Given the description of an element on the screen output the (x, y) to click on. 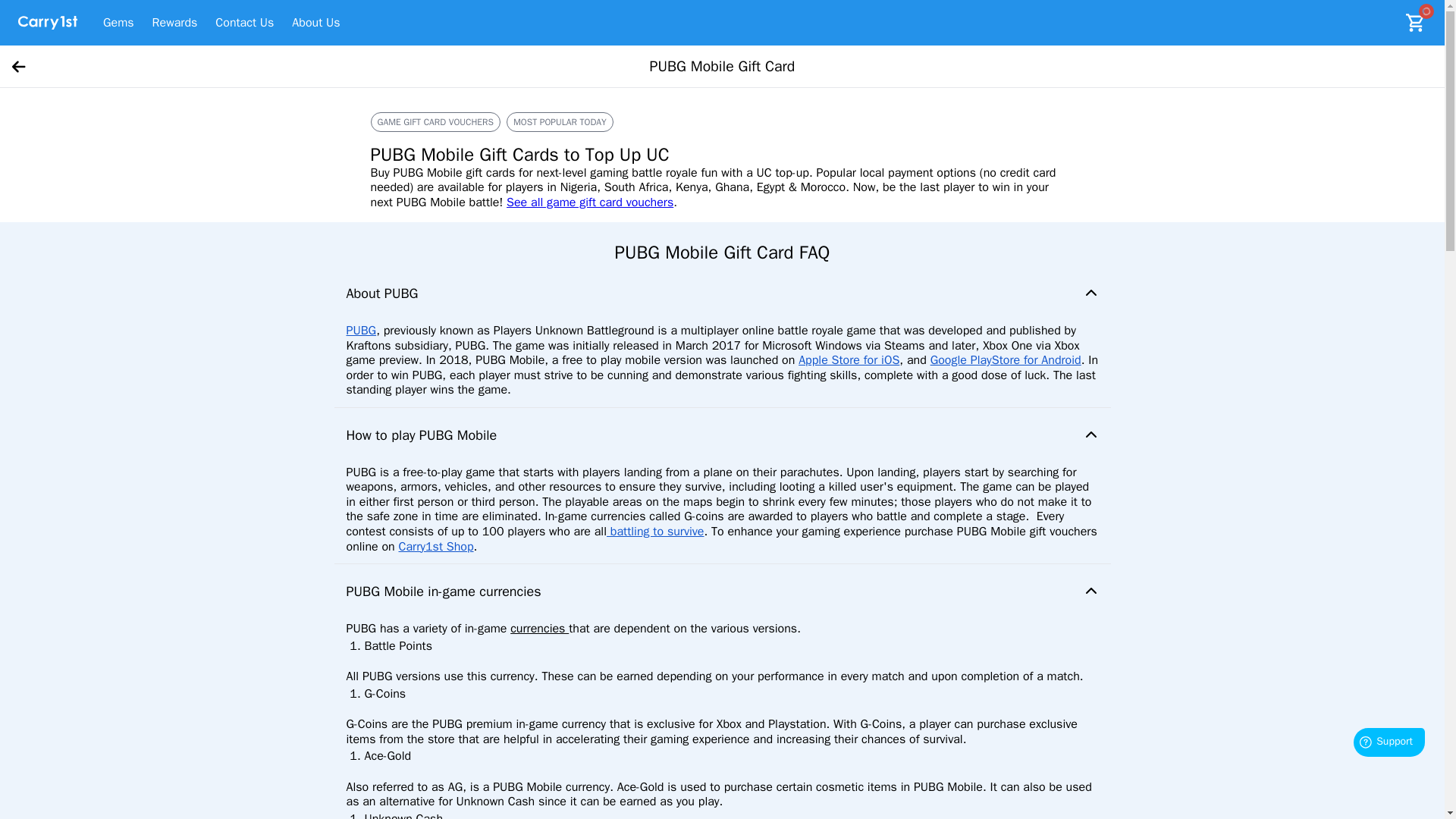
About Us (315, 22)
MOST POPULAR TODAY (559, 121)
About PUBG (721, 293)
Gems (118, 22)
PUBG (360, 330)
currencies (540, 628)
Rewards (175, 22)
Carry1st Shop (436, 545)
See all game gift card vouchers (589, 201)
Google PlayStore for Android (1005, 359)
Contact Us (244, 22)
How to play PUBG Mobile (721, 434)
Apple Store for iOS (848, 359)
PUBG Mobile in-game currencies (721, 591)
battling to survive (655, 531)
